Given the description of an element on the screen output the (x, y) to click on. 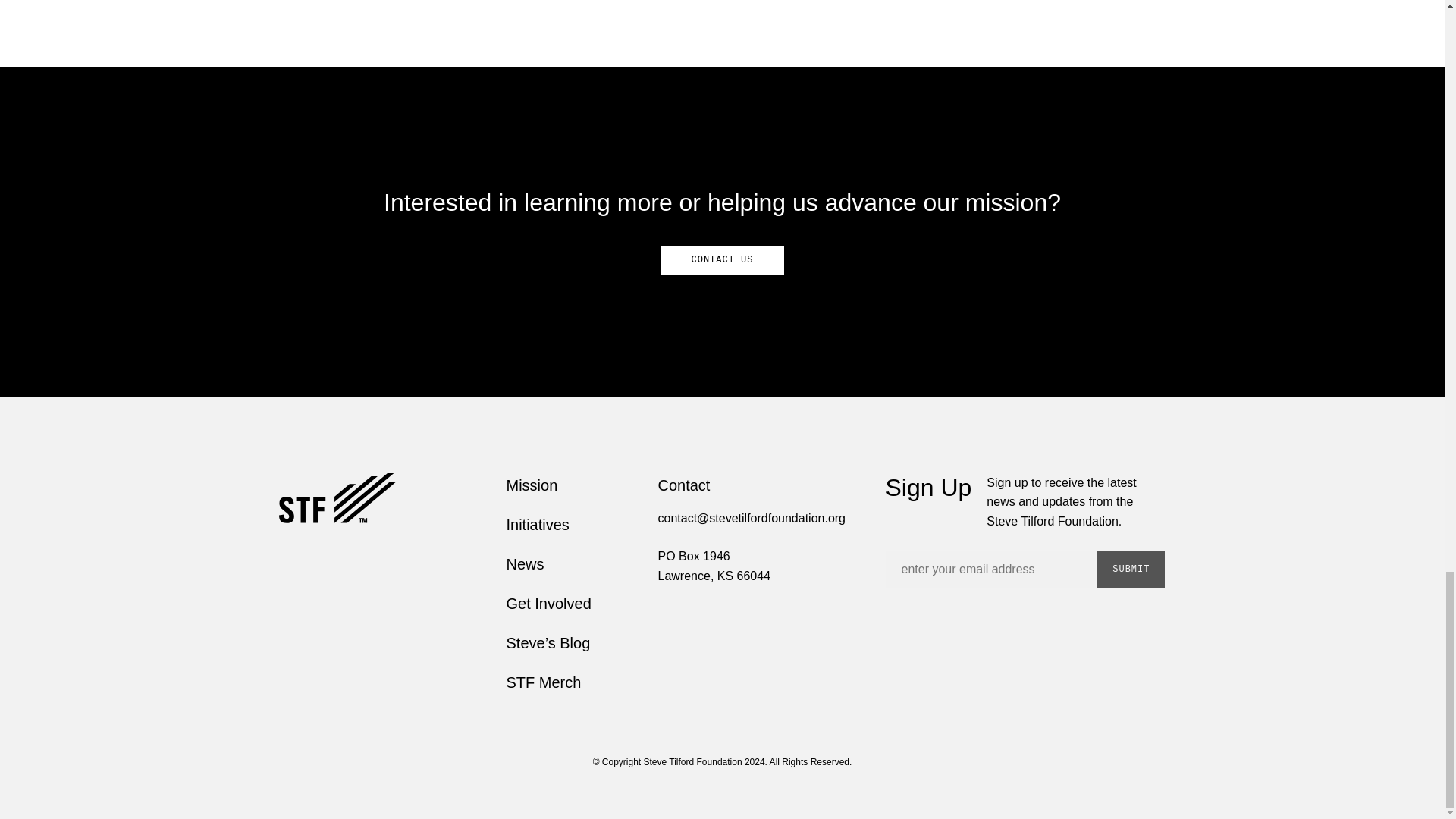
CONTACT US (721, 260)
Get Involved (548, 603)
Submit (1131, 569)
STF Merch (543, 682)
News (525, 564)
Submit (1131, 569)
Mission (531, 484)
Initiatives (537, 524)
